Given the description of an element on the screen output the (x, y) to click on. 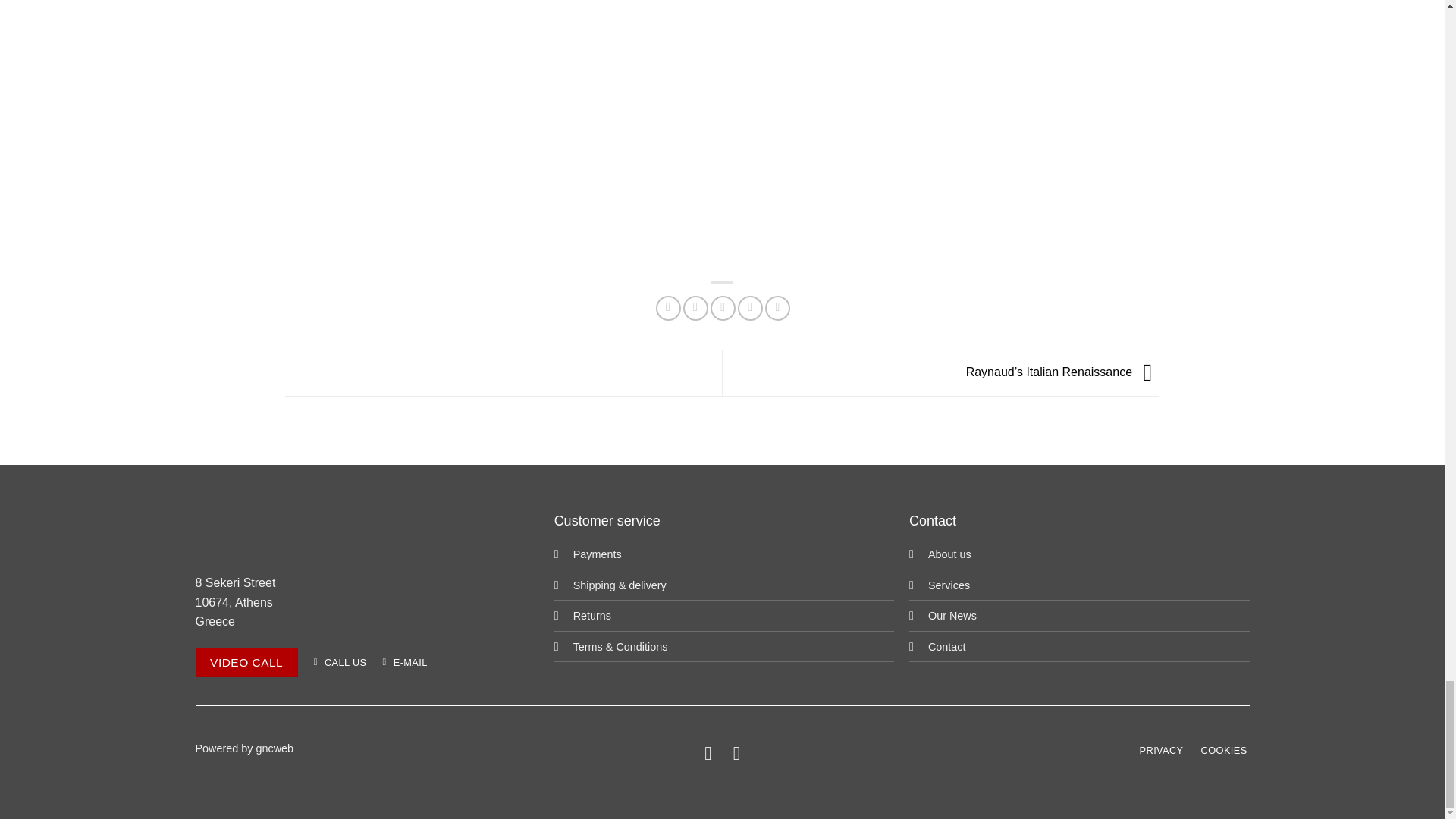
Follow on Instagram (735, 752)
Email to a Friend (722, 308)
Share on Twitter (694, 308)
Share on Facebook (668, 308)
Share on LinkedIn (777, 308)
Pin on Pinterest (750, 308)
Follow on Facebook (707, 752)
